Given the description of an element on the screen output the (x, y) to click on. 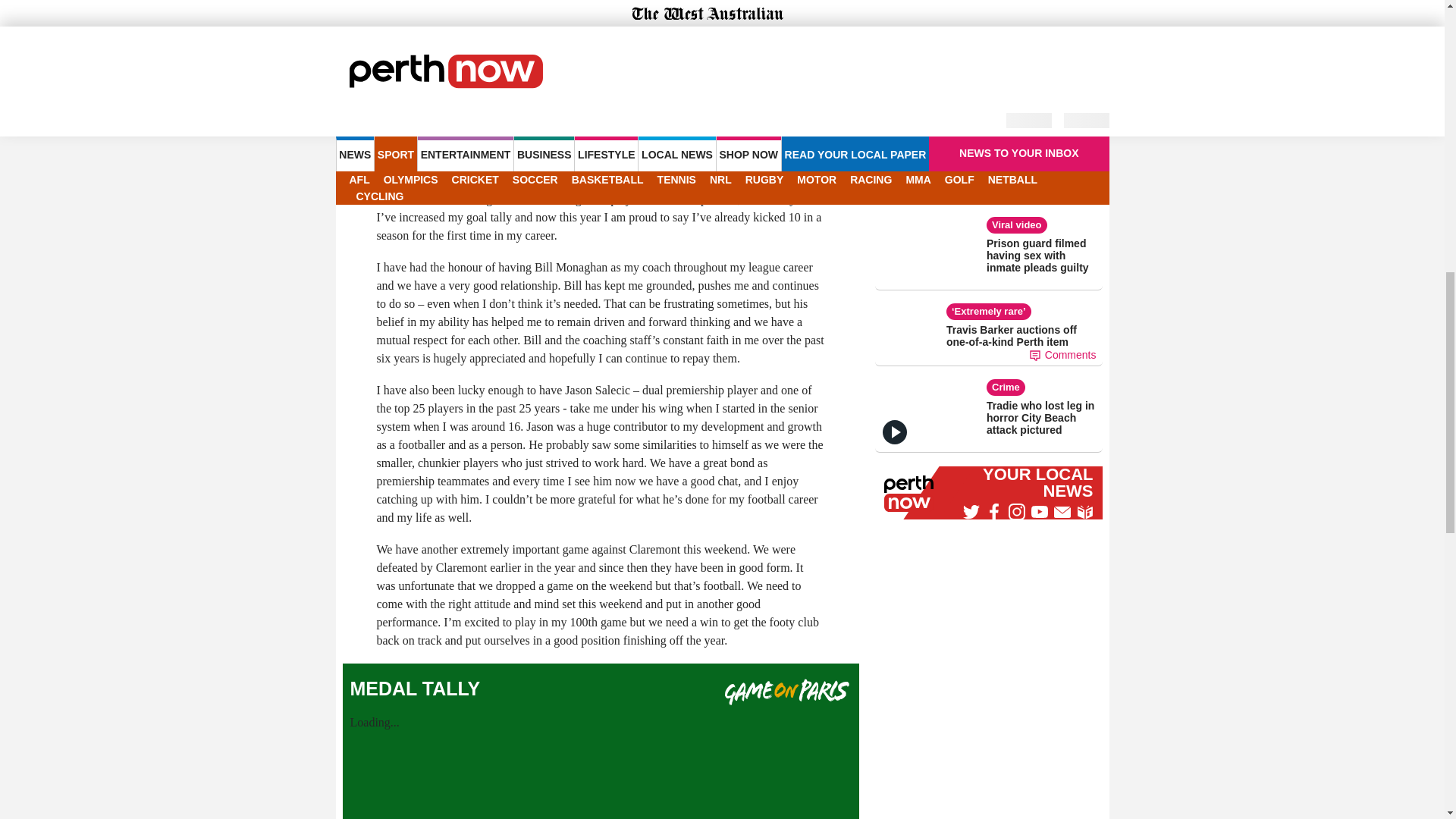
Game On Paris (788, 691)
